Given the description of an element on the screen output the (x, y) to click on. 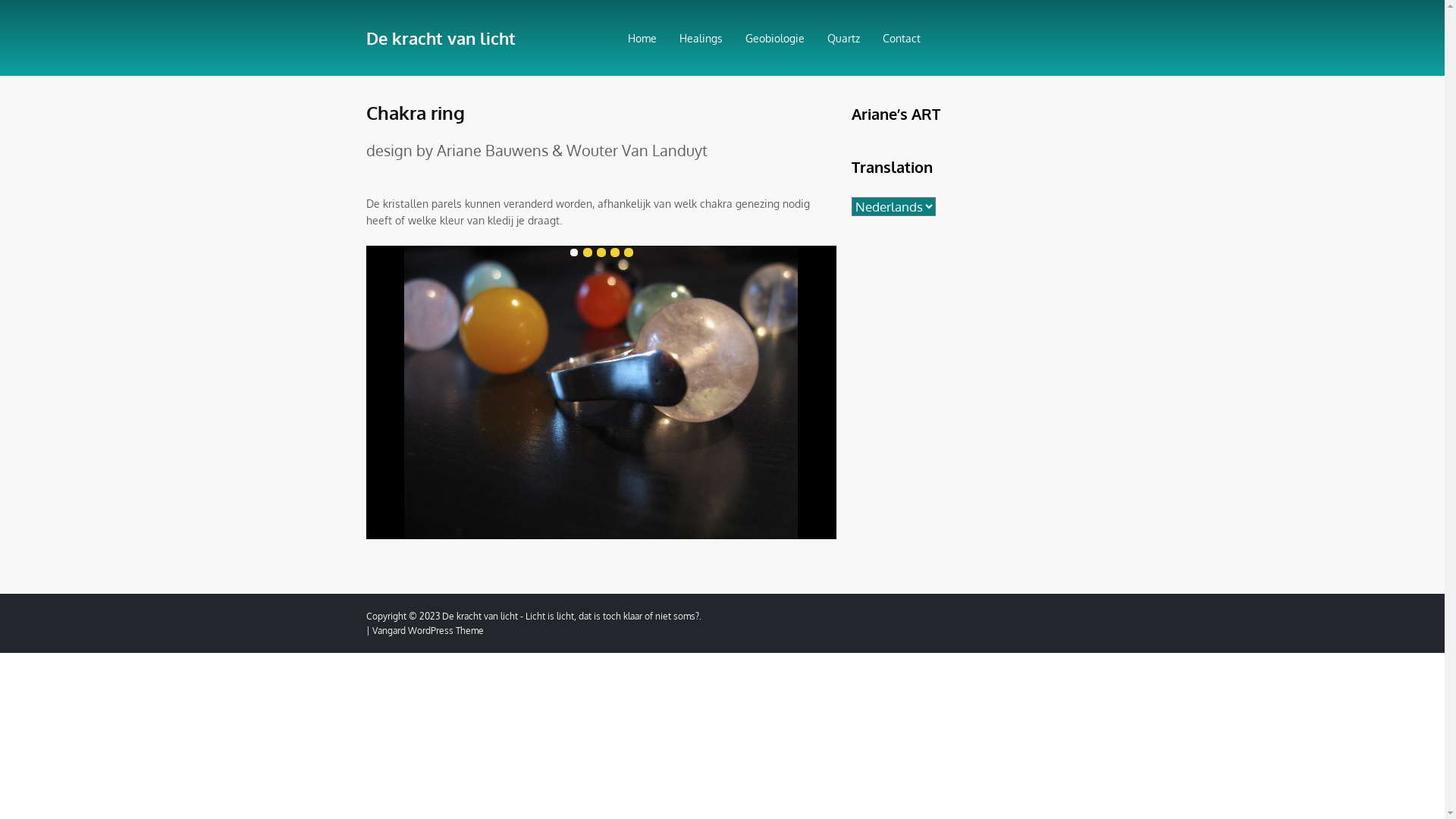
Geobiologie Element type: text (774, 38)
Home Element type: text (642, 38)
Contact Element type: text (901, 38)
Vangard WordPress Theme Element type: text (427, 630)
De kracht van licht Element type: text (479, 615)
Quartz Element type: text (842, 38)
Healings Element type: text (700, 38)
De kracht van licht Element type: text (479, 33)
